Given the description of an element on the screen output the (x, y) to click on. 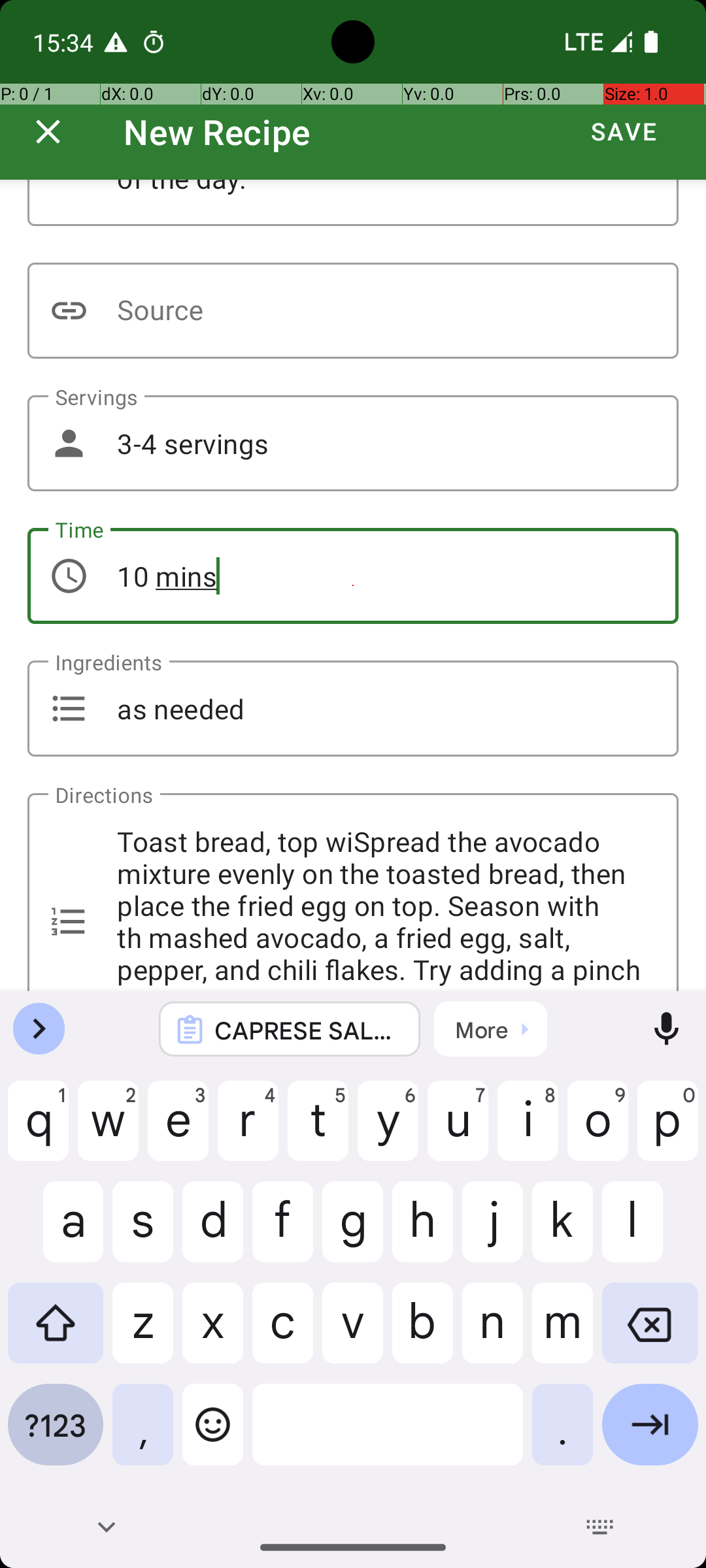
10 mins Element type: android.widget.EditText (352, 575)
as needed Element type: android.widget.EditText (352, 708)
Toast bread, top wiSpread the avocado mixture evenly on the toasted bread, then place the fried egg on top. Season with
th mashed avocado, a fried egg, salt, pepper, and chili flakes. Try adding a pinch of your favorite spices for extra flavor. Element type: android.widget.EditText (352, 892)
CAPRESE SALAD SKEWERS  Servings: 1 serving Time: 45 mins  A quick and easy meal, perfect for busy weekdays.  Ingredients: - n/a  Directions: 1. Thread cherry tomatoes, basil leaves, and mozzarella balls onto skewers. Drizzle with balsamic glaze. Feel free to substitute with ingredients you have on hand.  Shared with https://play.google.com/store/apps/details?id=com.flauschcode.broccoli Element type: android.widget.TextView (306, 1029)
